Given the description of an element on the screen output the (x, y) to click on. 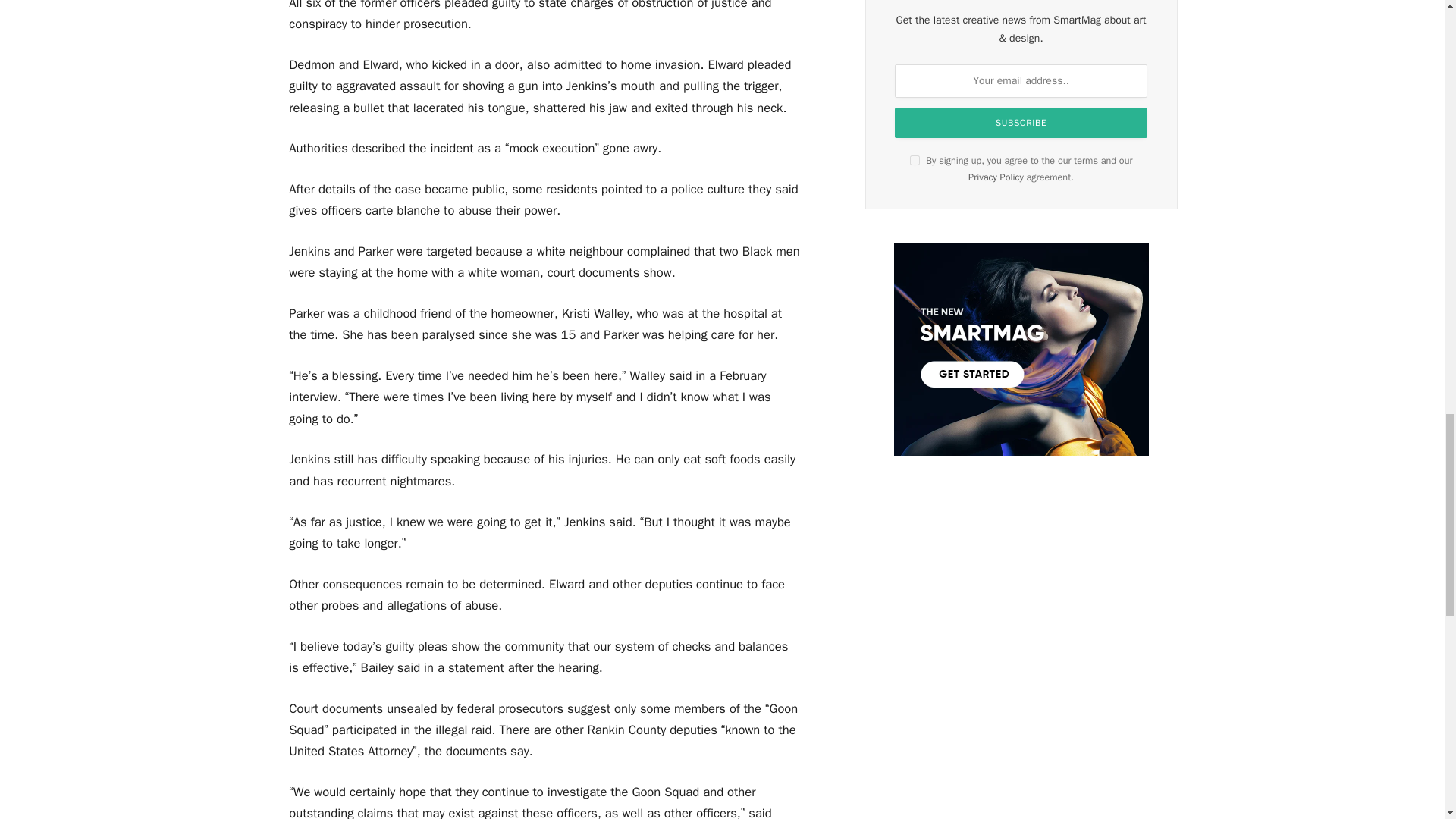
on (915, 160)
Subscribe (1021, 122)
